Given the description of an element on the screen output the (x, y) to click on. 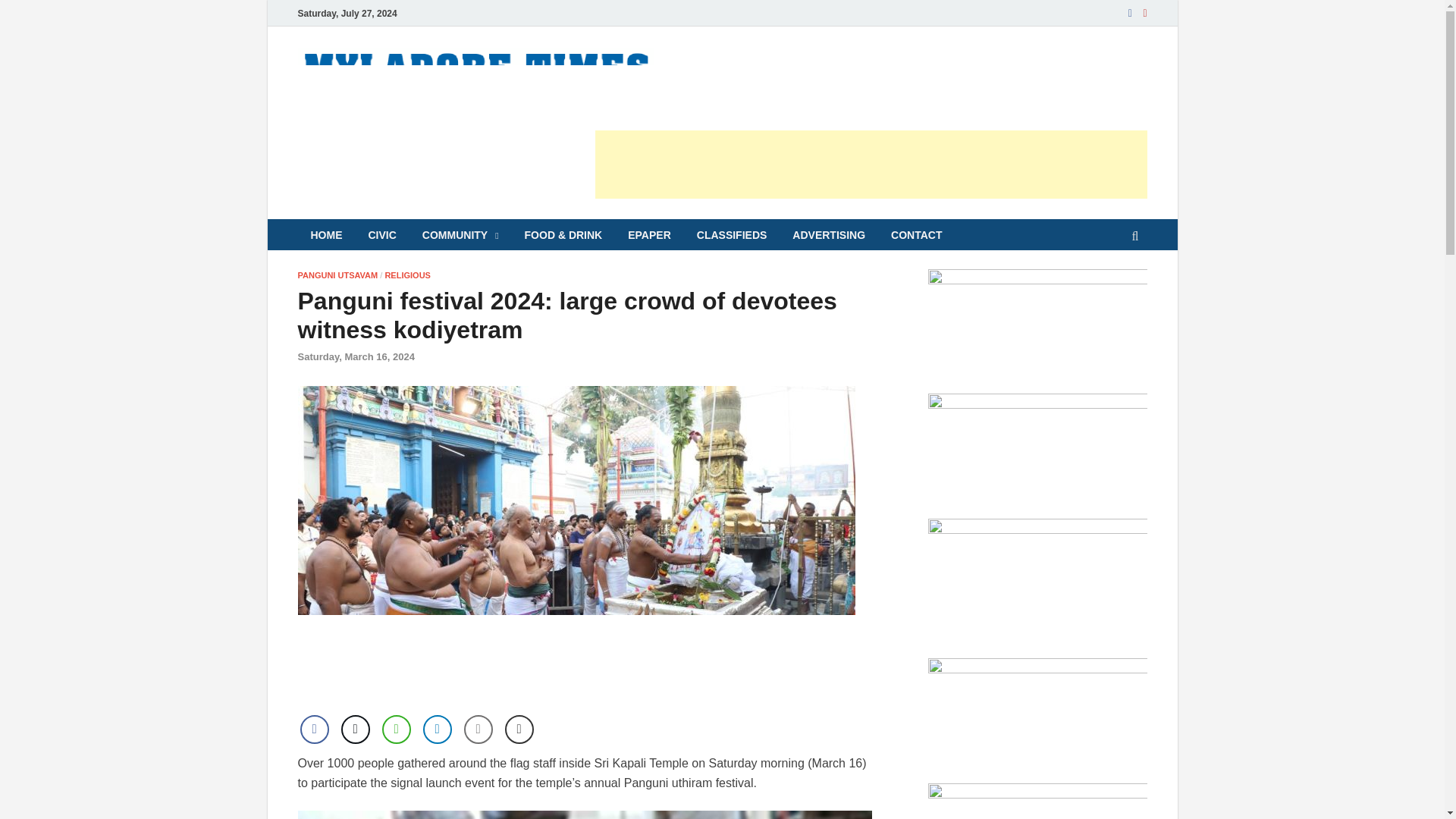
Saturday, March 16, 2024 (355, 356)
ADVERTISING (827, 234)
HOME (326, 234)
PANGUNI UTSAVAM (337, 275)
CLASSIFIEDS (732, 234)
RELIGIOUS (407, 275)
CIVIC (382, 234)
CONTACT (916, 234)
EPAPER (649, 234)
MYLAPORE TIMES (788, 78)
COMMUNITY (460, 234)
